Given the description of an element on the screen output the (x, y) to click on. 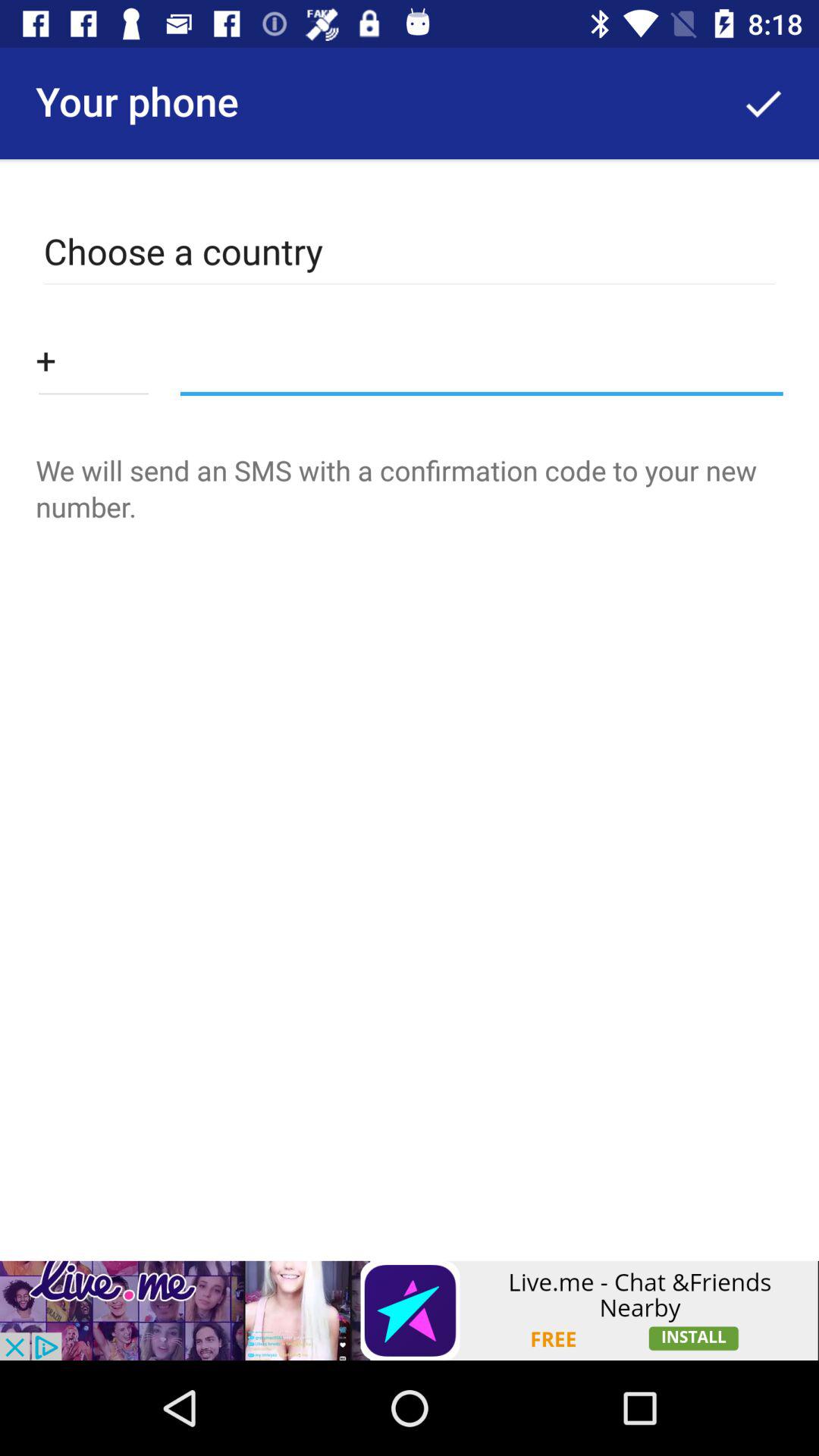
type ph no (93, 359)
